Given the description of an element on the screen output the (x, y) to click on. 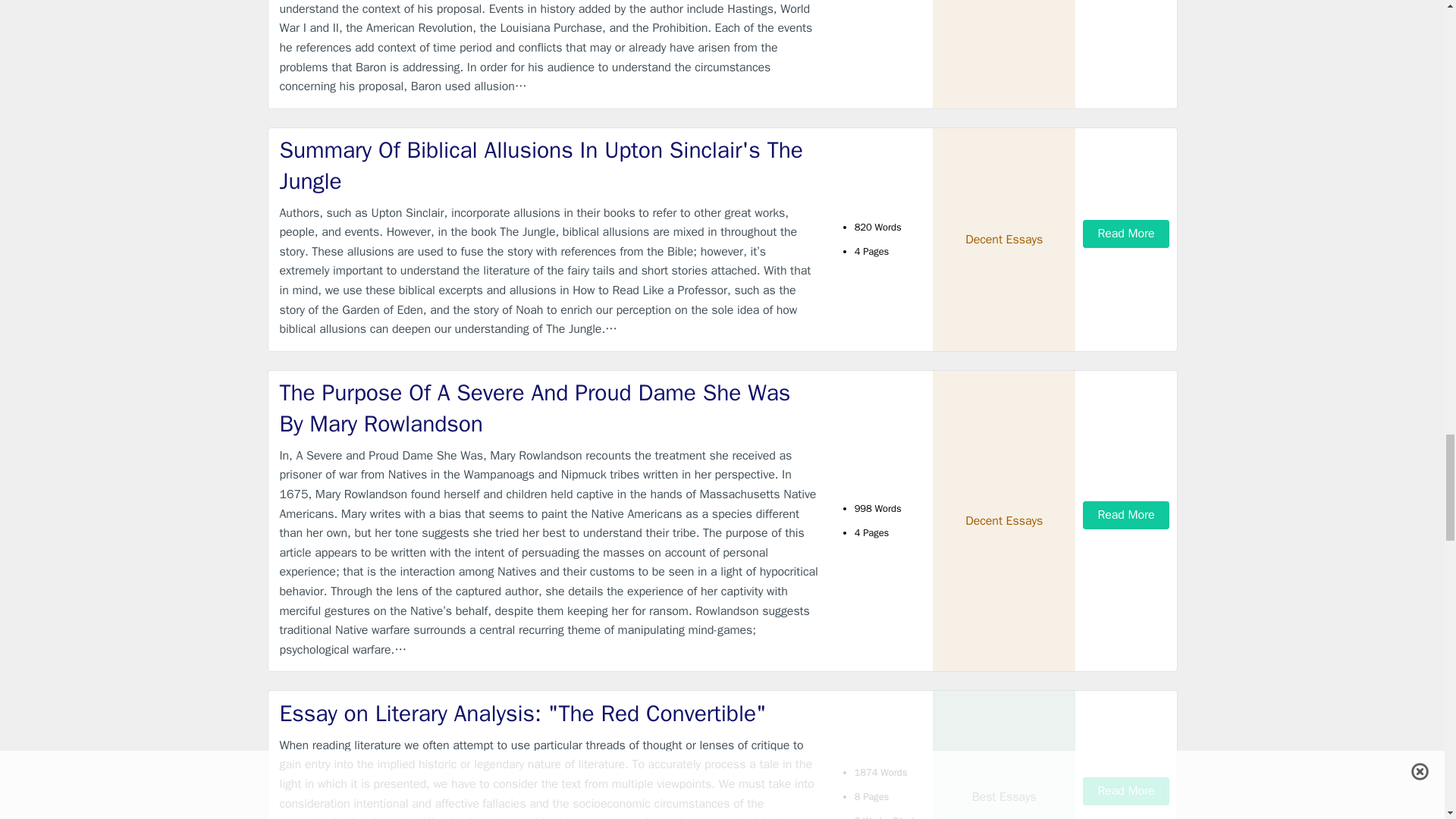
Summary Of Biblical Allusions In Upton Sinclair's The Jungle (548, 165)
